Given the description of an element on the screen output the (x, y) to click on. 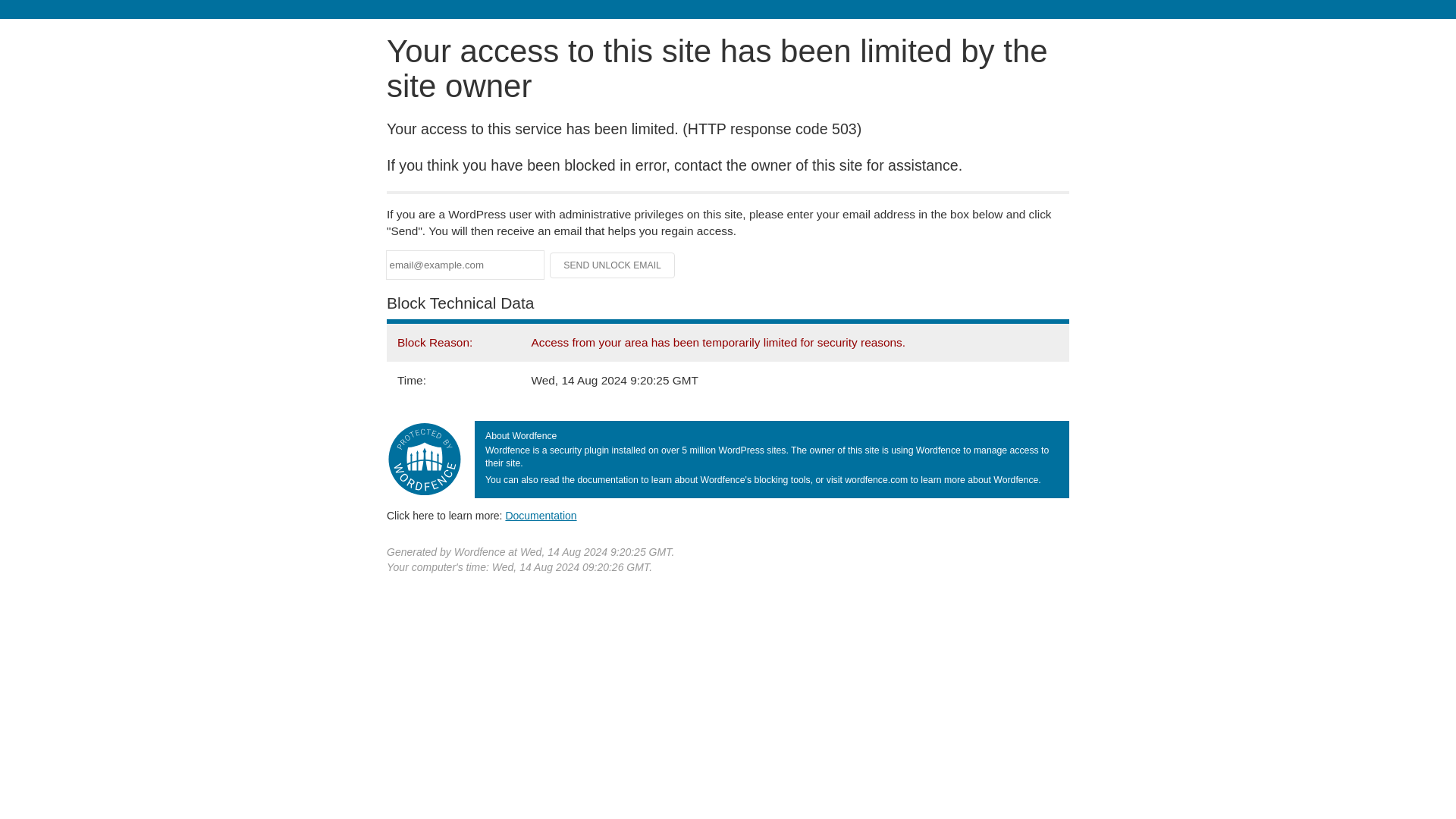
Send Unlock Email (612, 265)
Documentation (540, 515)
Send Unlock Email (612, 265)
